Given the description of an element on the screen output the (x, y) to click on. 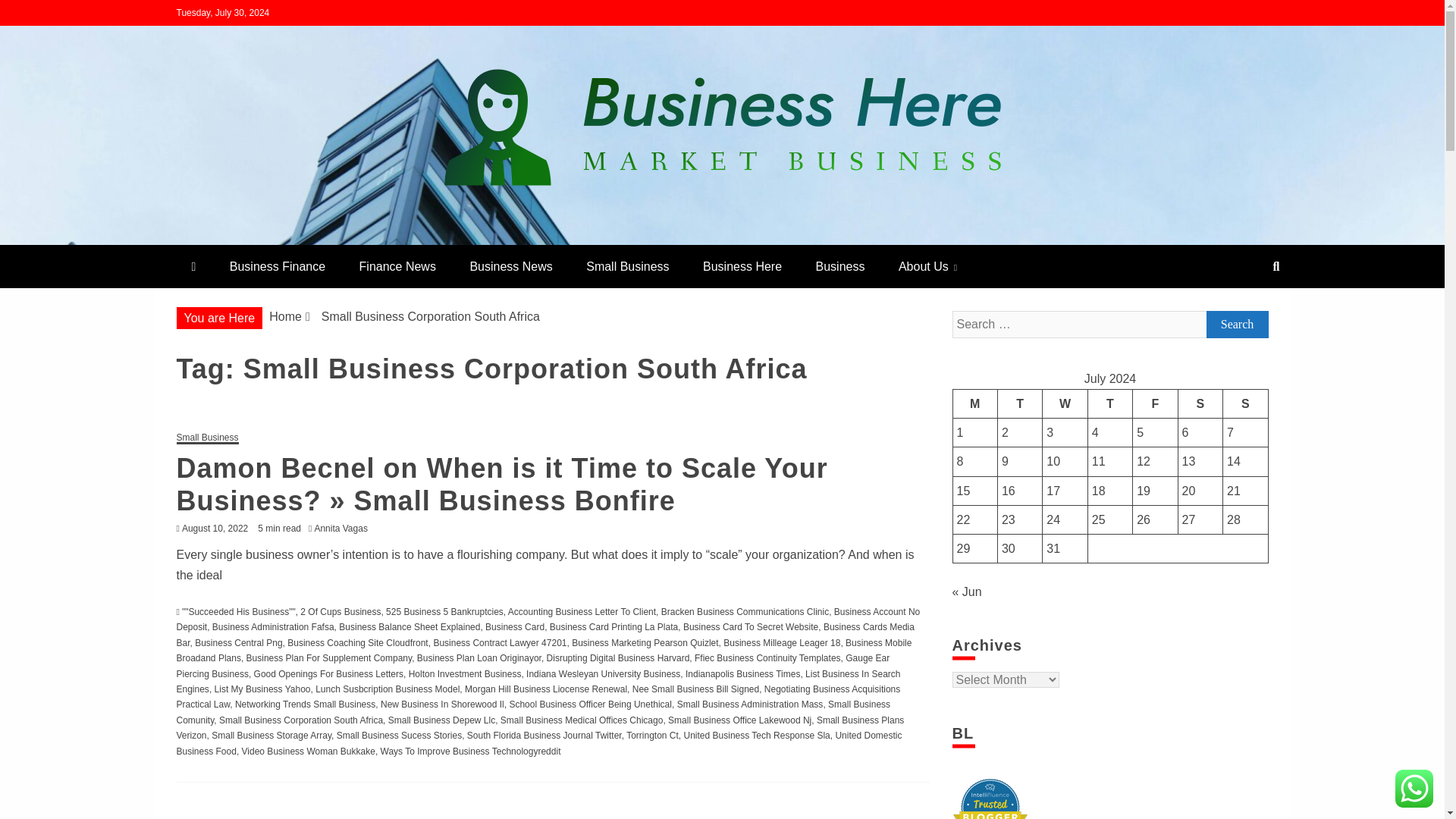
Business Cards Media Bar (545, 634)
Business (840, 266)
Business News (510, 266)
Business Here (275, 237)
Friday (1154, 403)
Bracken Business Communications Clinic (744, 611)
Business Here (741, 266)
Sunday (1245, 403)
Thursday (1109, 403)
Business Coaching Site Cloudfront (357, 643)
Business Central Png (238, 643)
Saturday (1200, 403)
Search (1236, 324)
Business Account No Deposit (548, 619)
Accounting Business Letter To Client (582, 611)
